Given the description of an element on the screen output the (x, y) to click on. 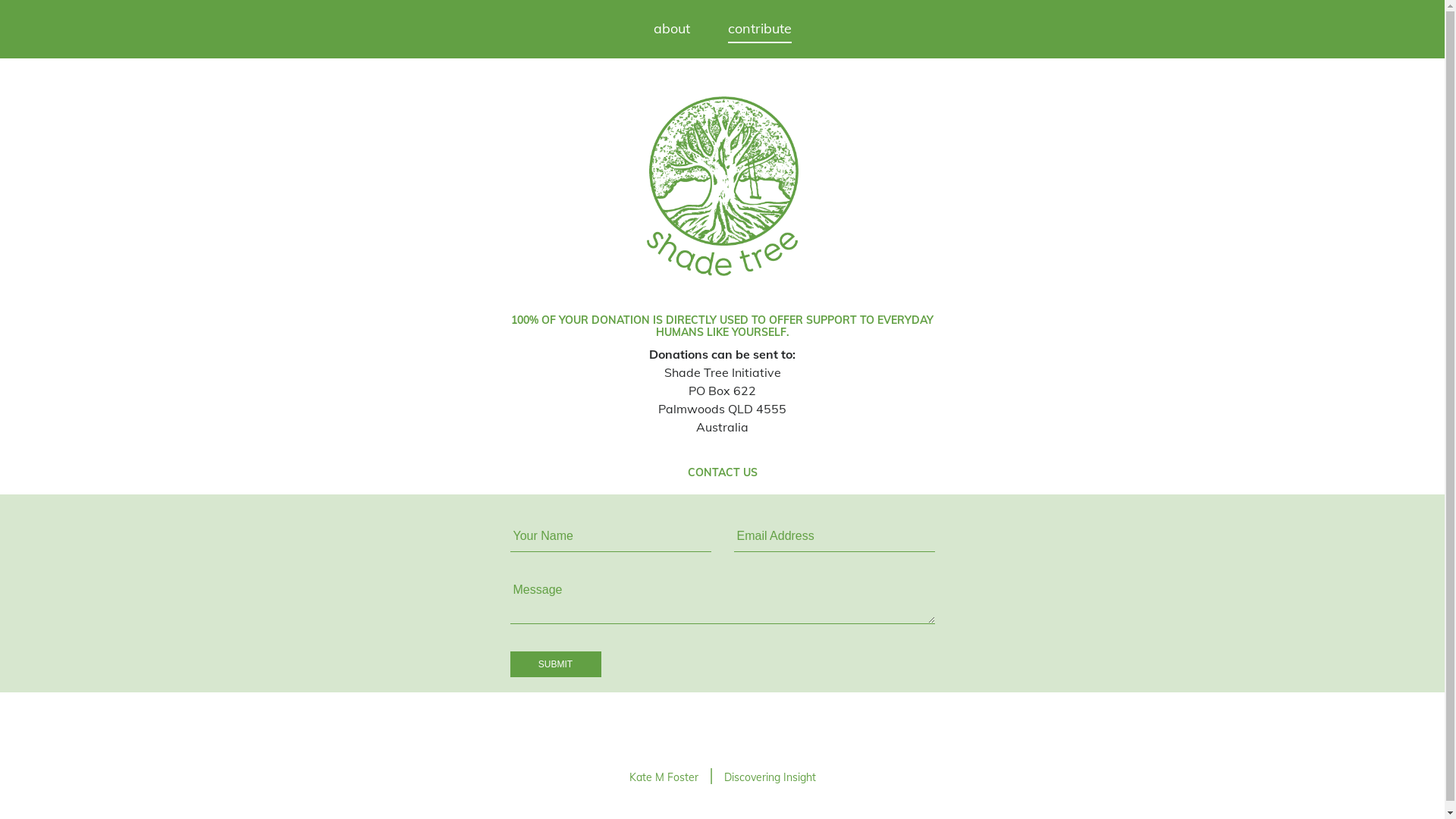
Kate M Foster Element type: text (663, 777)
contribute Element type: text (759, 29)
Discovering Insight Element type: text (769, 777)
about Element type: text (671, 28)
